Given the description of an element on the screen output the (x, y) to click on. 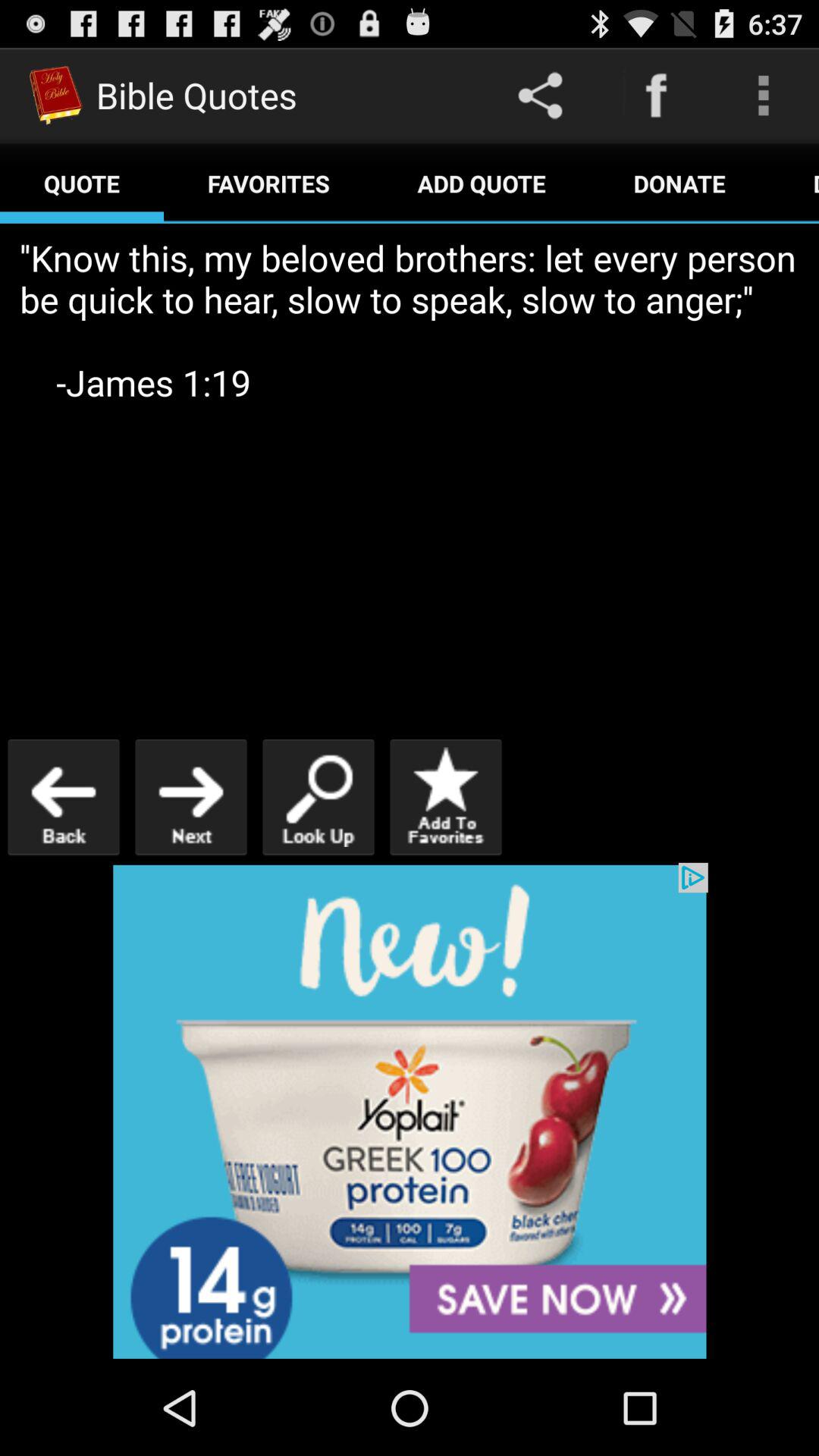
add favorite (445, 796)
